Given the description of an element on the screen output the (x, y) to click on. 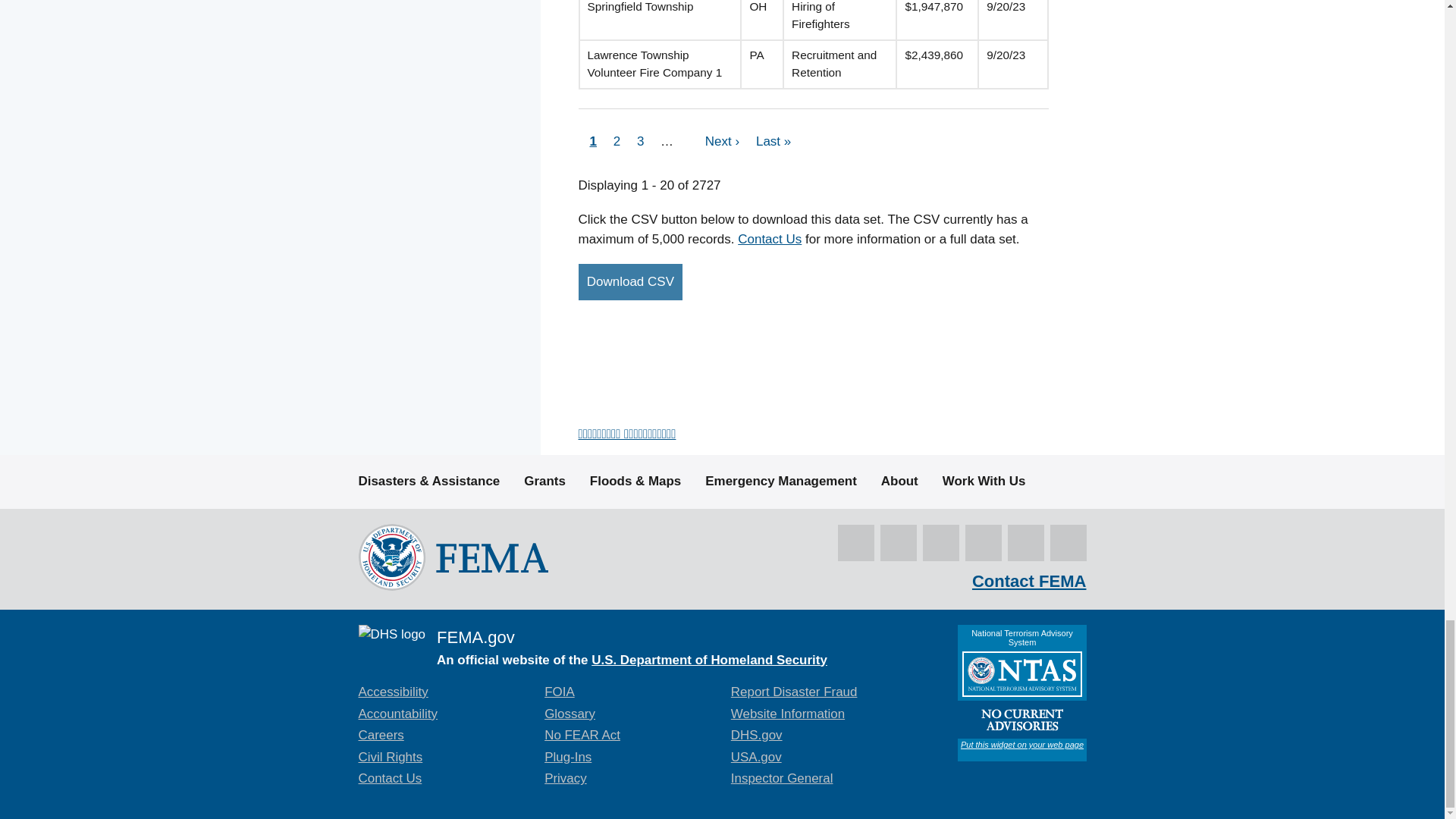
FEMA logo (452, 557)
National Terrorism Advisory System (1021, 692)
